Given the description of an element on the screen output the (x, y) to click on. 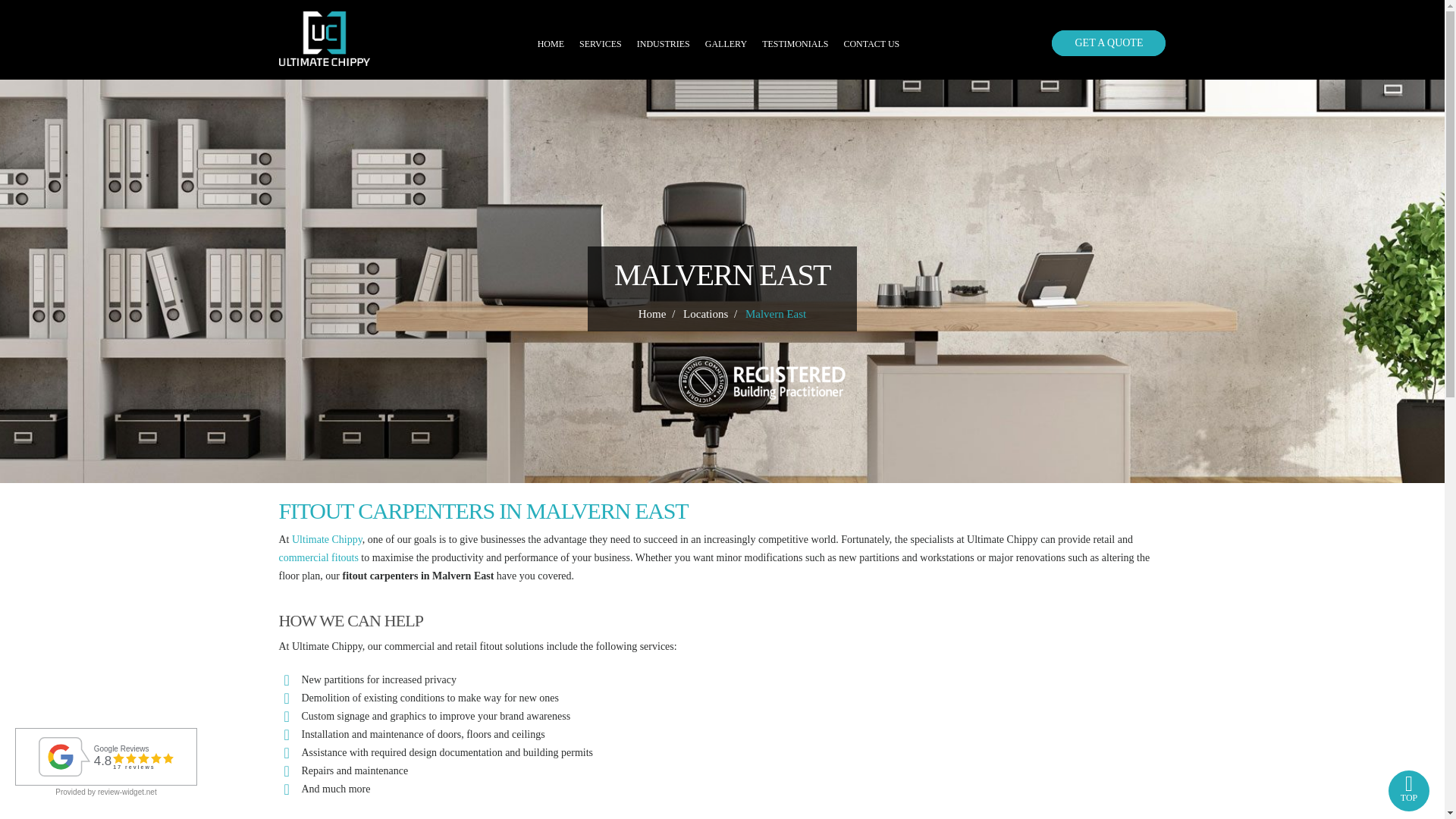
Locations (705, 313)
Locations (705, 313)
Shopfitting Contractors (327, 539)
SERVICES (600, 46)
Get a Quote (1108, 43)
Fitouts Melbourne (324, 36)
Services (600, 46)
Ultimate Chippy (327, 539)
Home (652, 313)
TESTIMONIALS (794, 46)
GALLERY (725, 46)
commercial fitouts (318, 557)
INDUSTRIES (663, 46)
GET A QUOTE (1108, 43)
CONTACT US (871, 46)
